Given the description of an element on the screen output the (x, y) to click on. 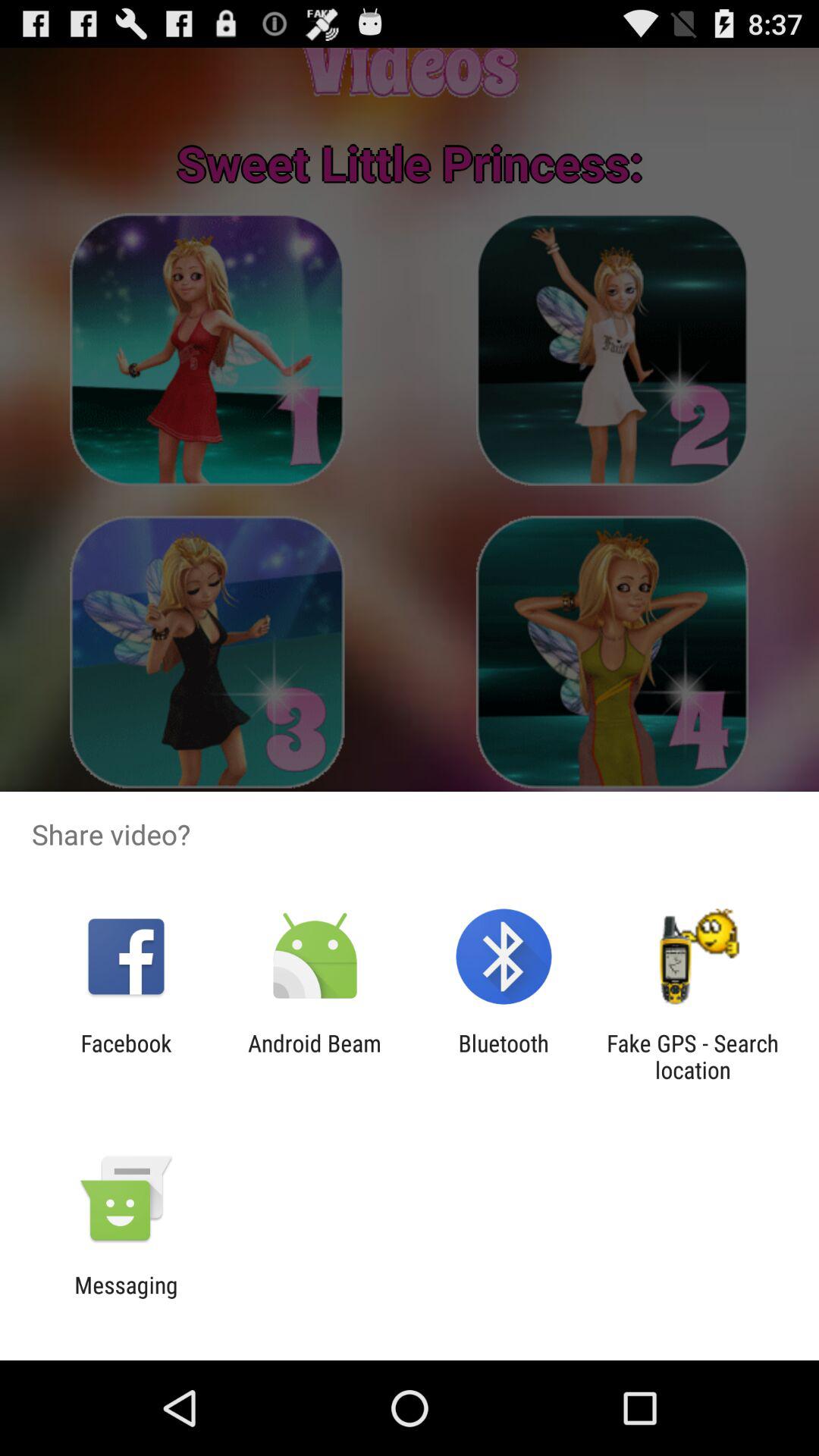
turn on item next to bluetooth app (314, 1056)
